Given the description of an element on the screen output the (x, y) to click on. 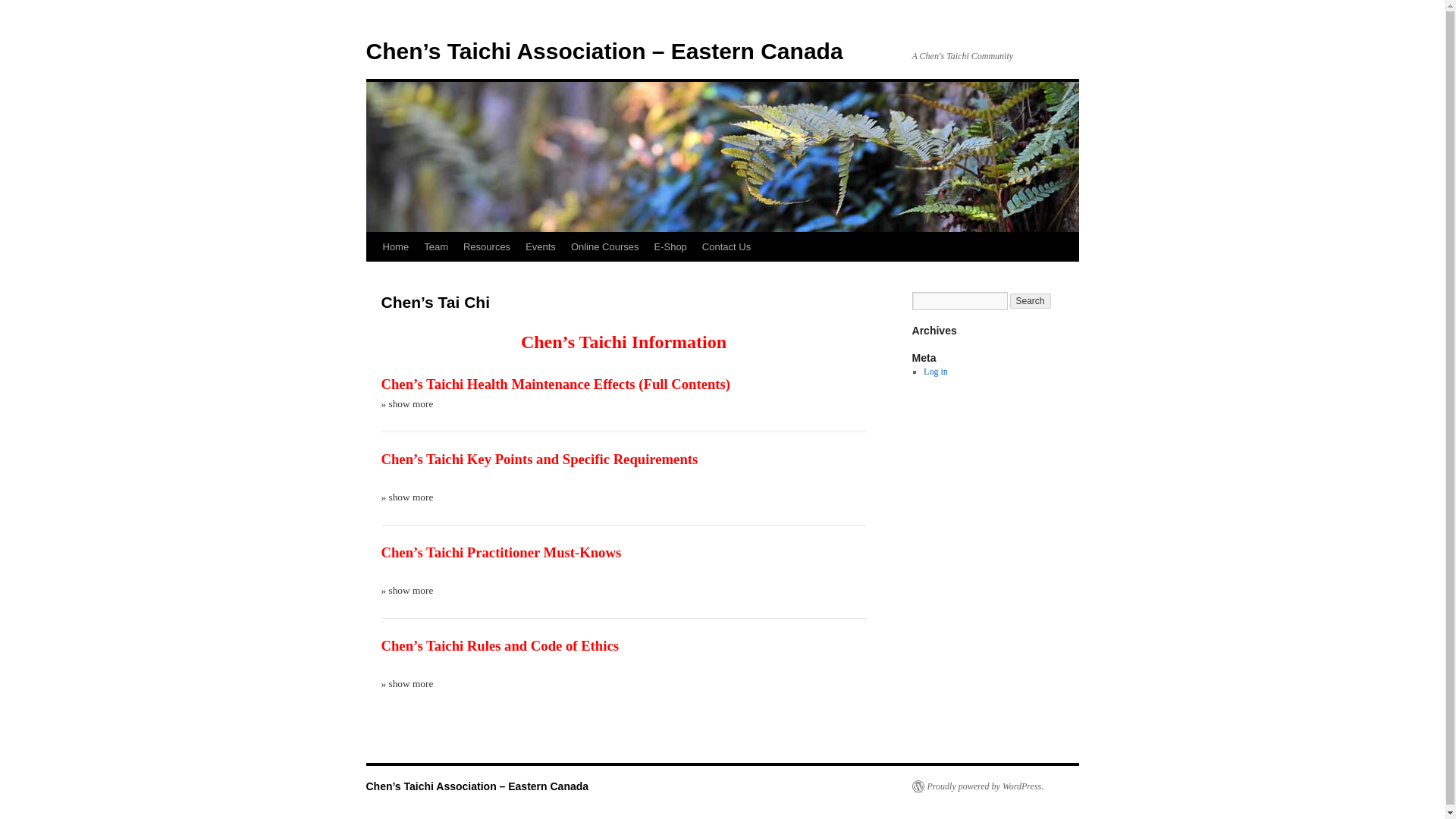
Online Courses (604, 246)
E-Shop (670, 246)
Log in (935, 371)
Search (1030, 300)
Team (435, 246)
Search (1030, 300)
Home (395, 246)
Events (540, 246)
Resources (486, 246)
Contact Us (726, 246)
